Given the description of an element on the screen output the (x, y) to click on. 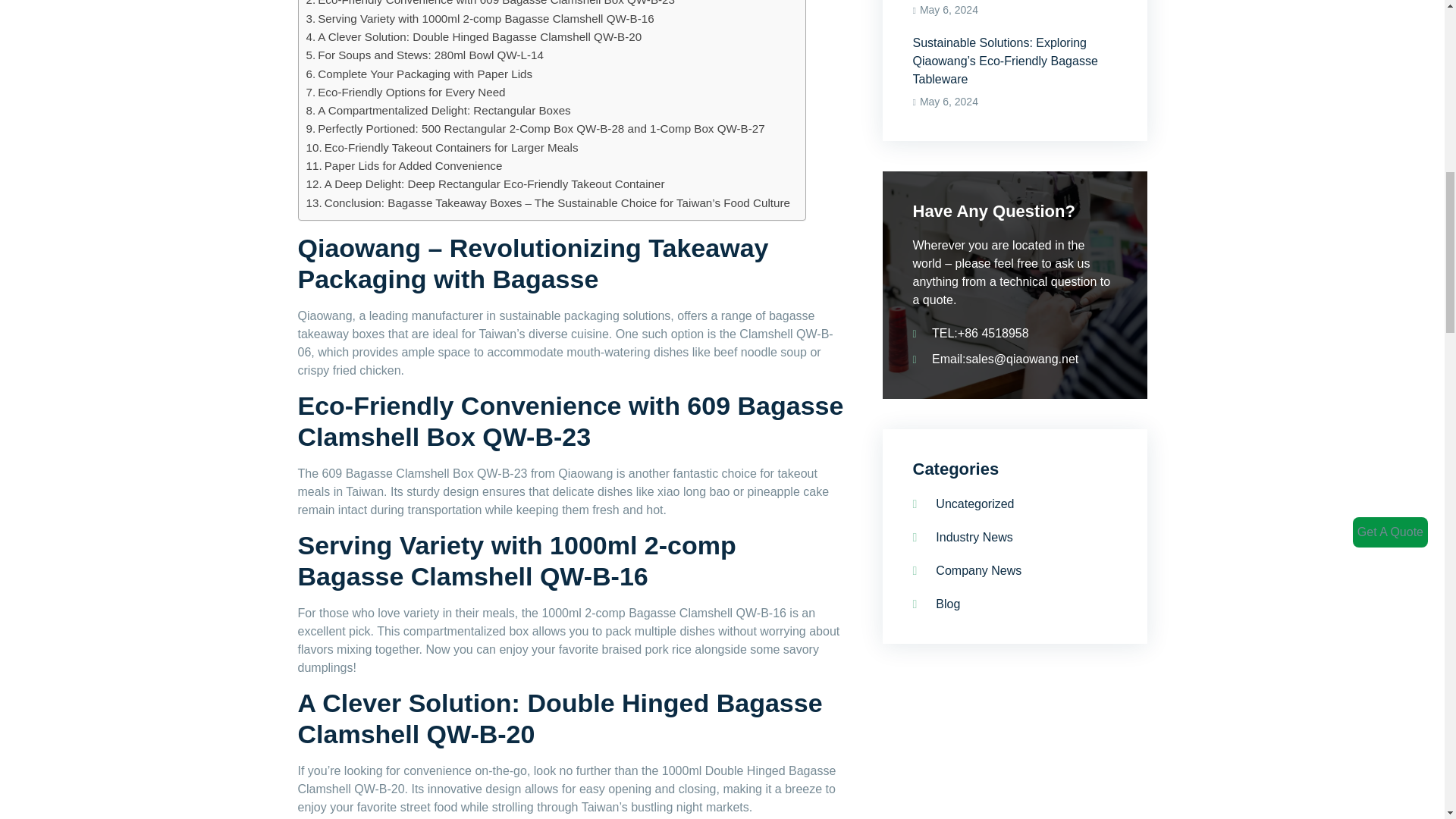
For Soups and Stews: 280ml Bowl QW-L-14 (424, 54)
For Soups and Stews: 280ml Bowl QW-L-14 (424, 54)
Eco-Friendly Options for Every Need (405, 92)
A Clever Solution: Double Hinged Bagasse Clamshell QW-B-20 (473, 36)
Complete Your Packaging with Paper Lids (418, 74)
Paper Lids for Added Convenience (403, 166)
A Compartmentalized Delight: Rectangular Boxes (437, 110)
Eco-Friendly Takeout Containers for Larger Meals (441, 147)
A Compartmentalized Delight: Rectangular Boxes (437, 110)
Complete Your Packaging with Paper Lids (418, 74)
